Given the description of an element on the screen output the (x, y) to click on. 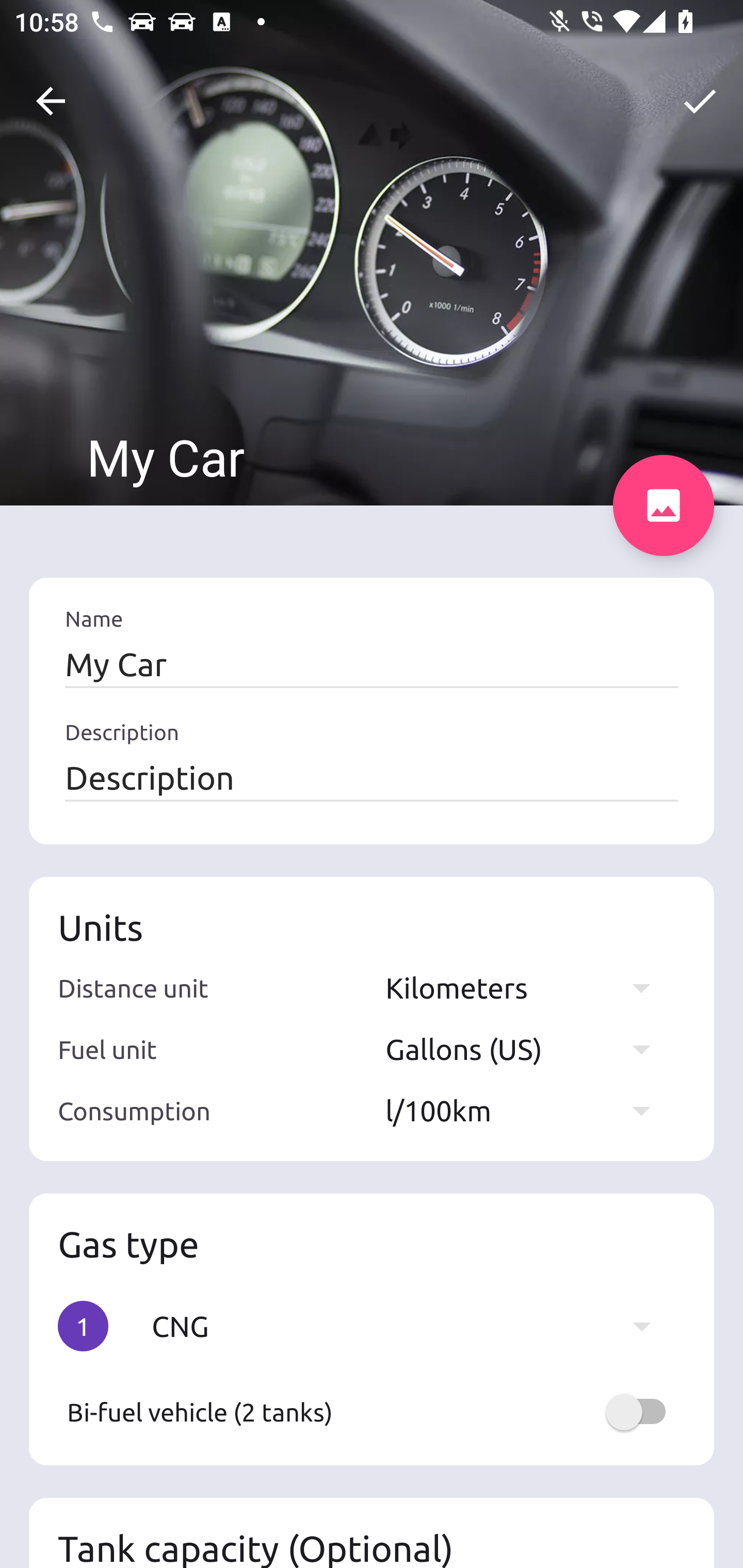
Navigate up (50, 101)
OK (699, 101)
My Car (371, 664)
Description (371, 777)
Kilometers (527, 987)
Gallons (US) (527, 1048)
l/100km (527, 1110)
CNG (411, 1325)
Bi-fuel vehicle (2 tanks) (371, 1411)
